Given the description of an element on the screen output the (x, y) to click on. 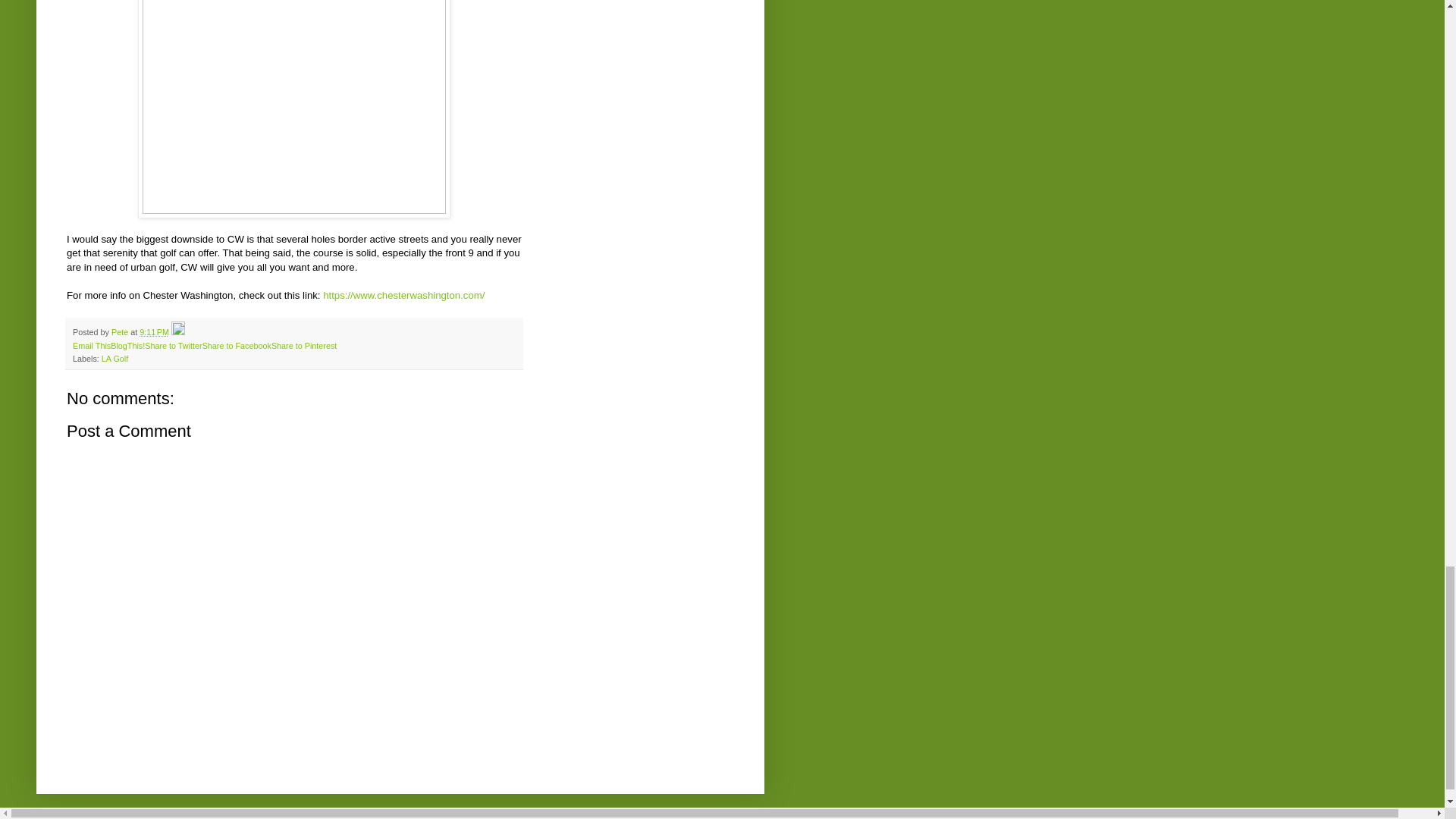
Share to Twitter (173, 345)
Edit Post (177, 331)
Share to Pinterest (303, 345)
author profile (121, 331)
Share to Pinterest (303, 345)
Email This (91, 345)
BlogThis! (127, 345)
Share to Twitter (173, 345)
BlogThis! (127, 345)
permanent link (153, 331)
Share to Facebook (236, 345)
Pete (121, 331)
LA Golf (114, 358)
Share to Facebook (236, 345)
